Given the description of an element on the screen output the (x, y) to click on. 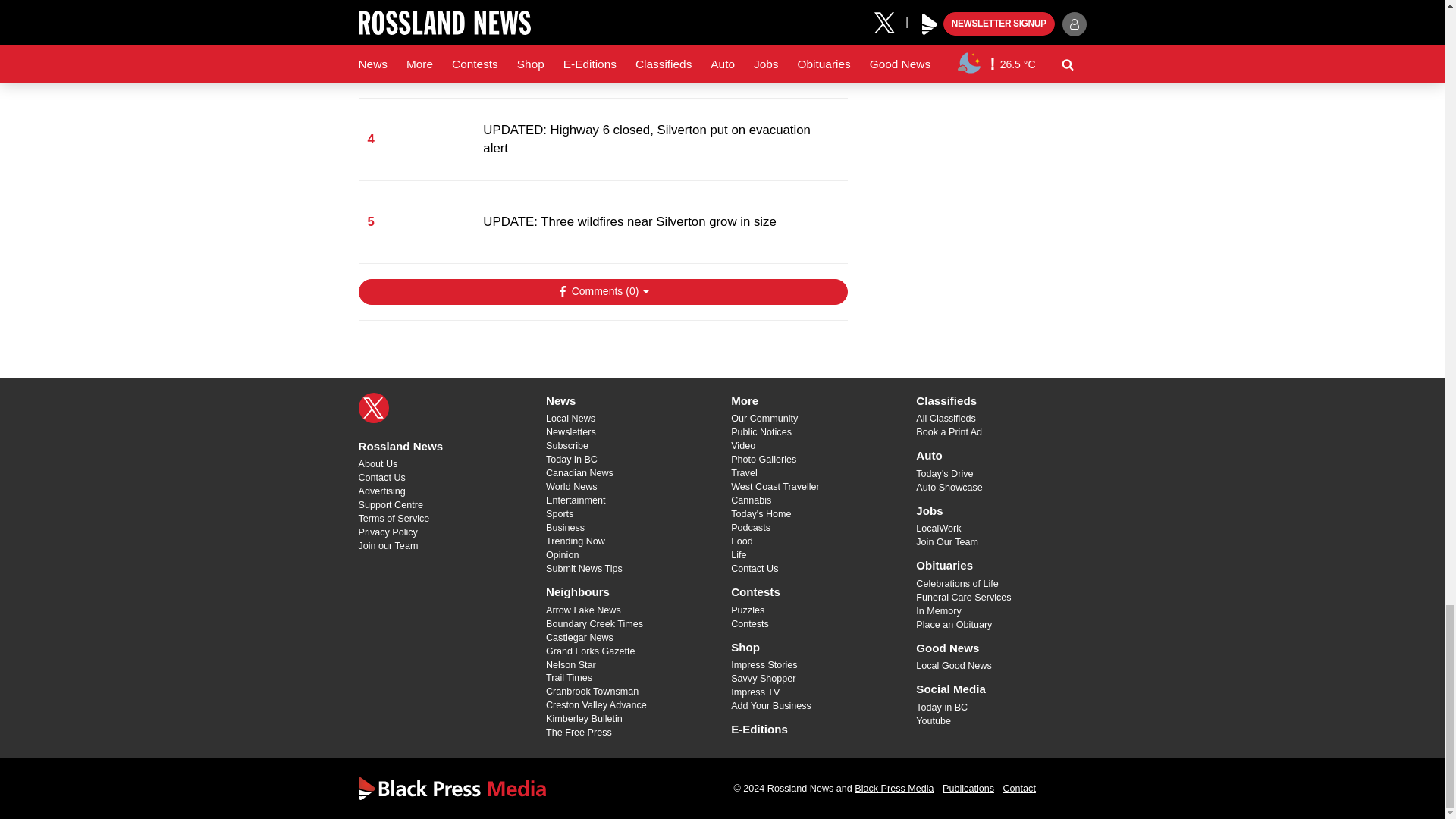
X (373, 408)
Show Comments (602, 291)
